Given the description of an element on the screen output the (x, y) to click on. 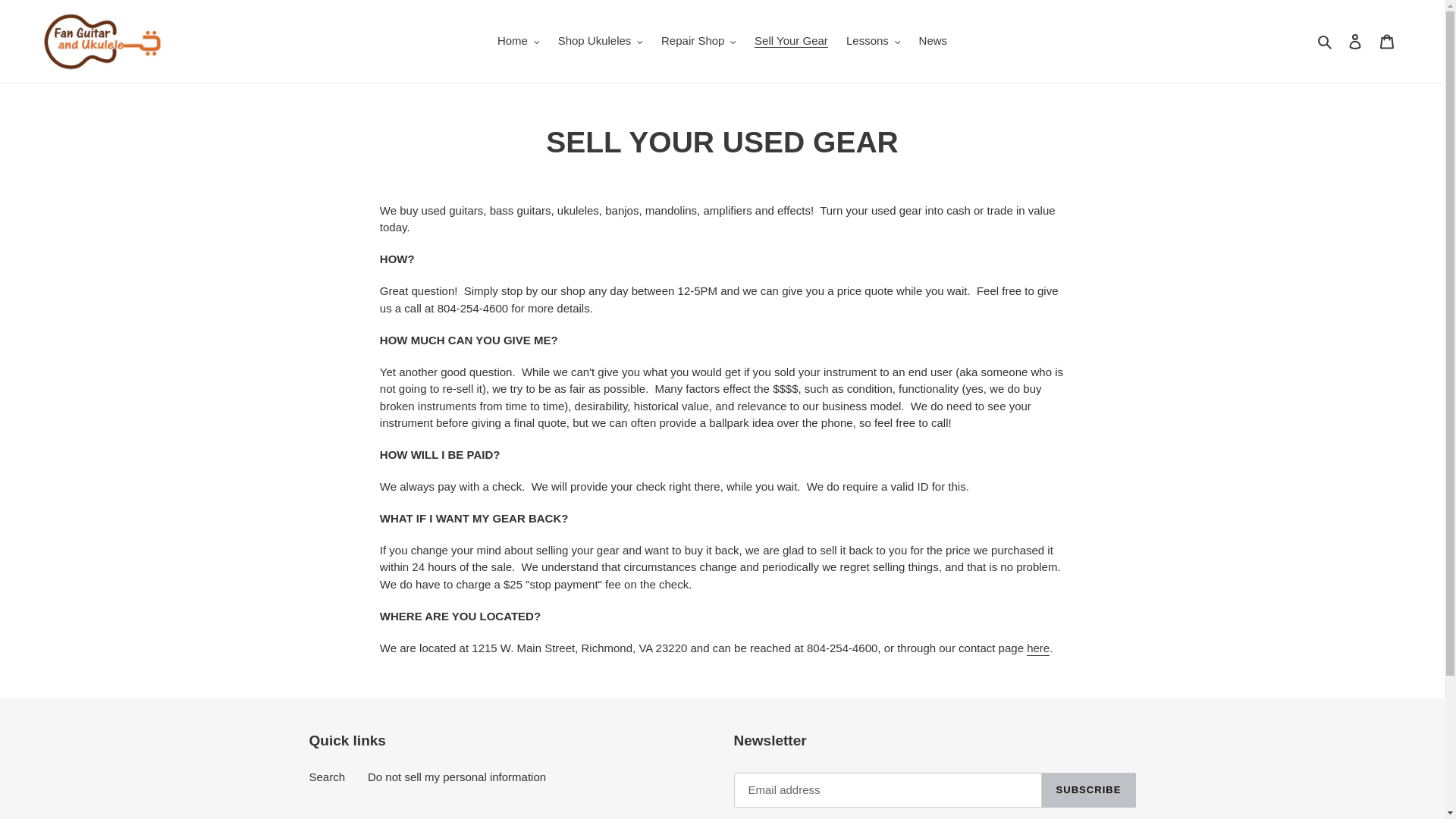
Shop Ukuleles (600, 41)
Lessons (872, 41)
Log in (1355, 41)
CONTACT US HERE! (1037, 648)
Cart (1387, 41)
Search (1326, 40)
Repair Shop (698, 41)
News (933, 41)
Home (518, 41)
Sell Your Gear (790, 41)
